Given the description of an element on the screen output the (x, y) to click on. 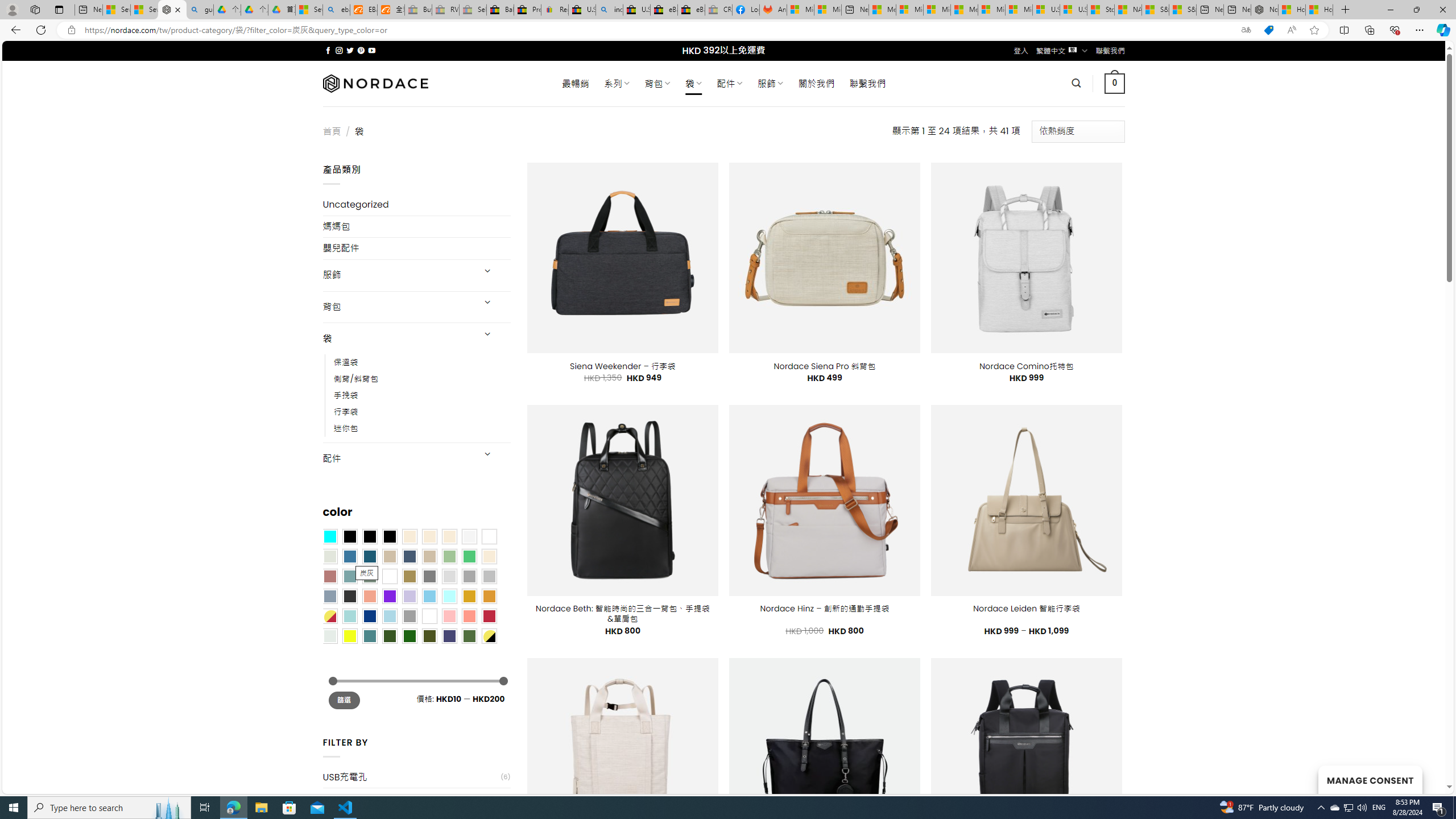
Baby Keepsakes & Announcements for sale | eBay (499, 9)
